Given the description of an element on the screen output the (x, y) to click on. 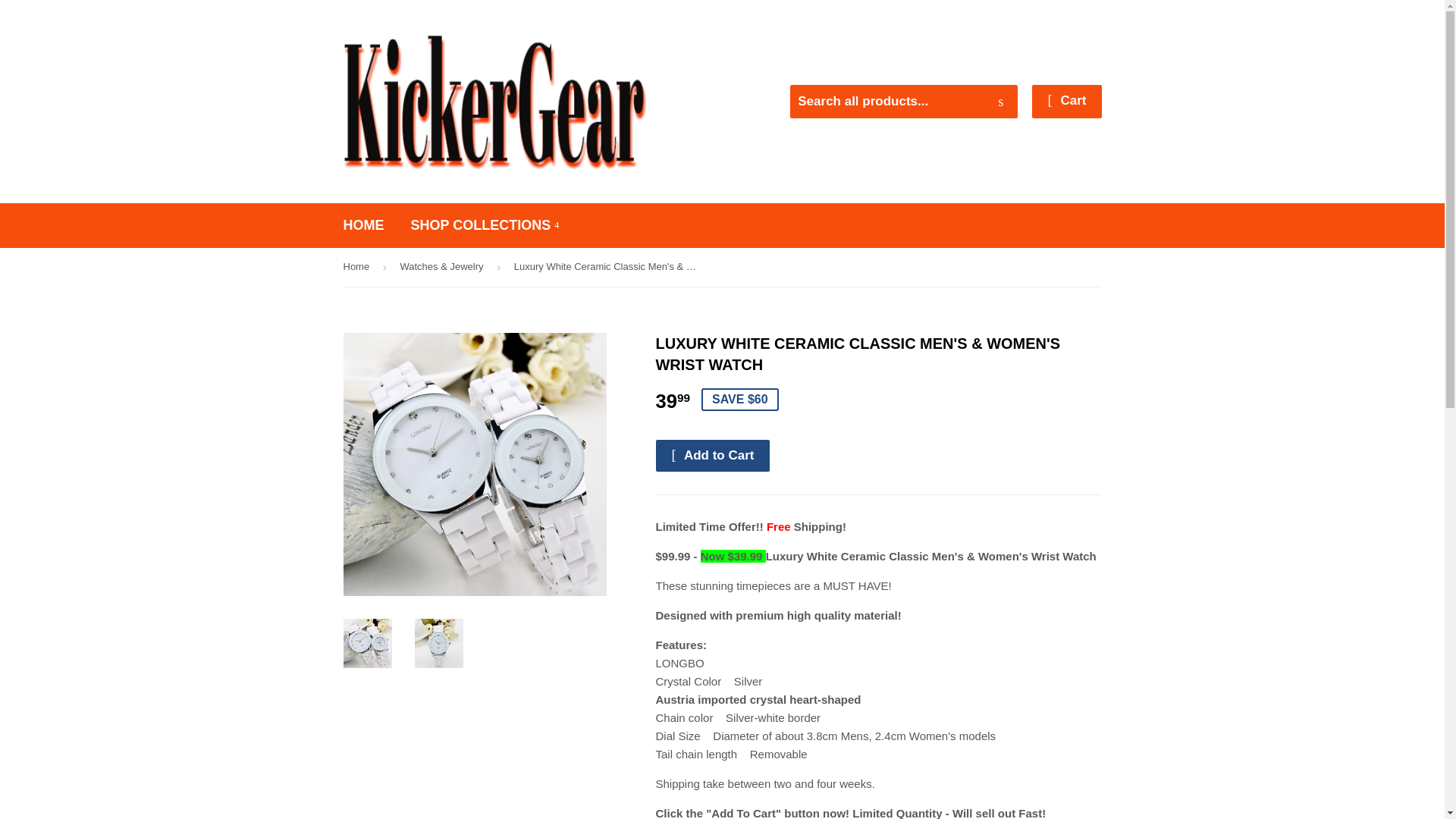
Add to Cart (712, 455)
HOME (363, 225)
Cart (1066, 101)
Search (1000, 101)
SHOP COLLECTIONS (484, 225)
